Given the description of an element on the screen output the (x, y) to click on. 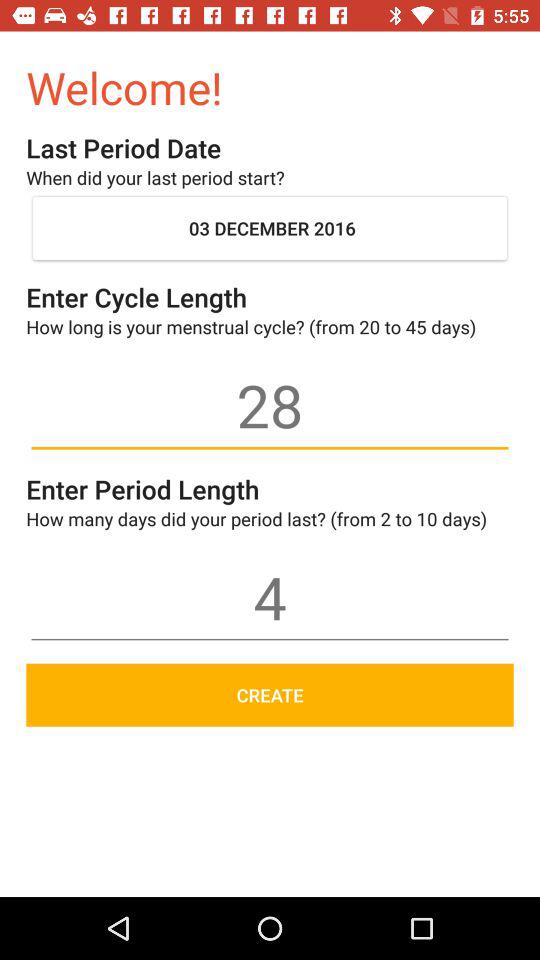
select item below the how many days (269, 597)
